Given the description of an element on the screen output the (x, y) to click on. 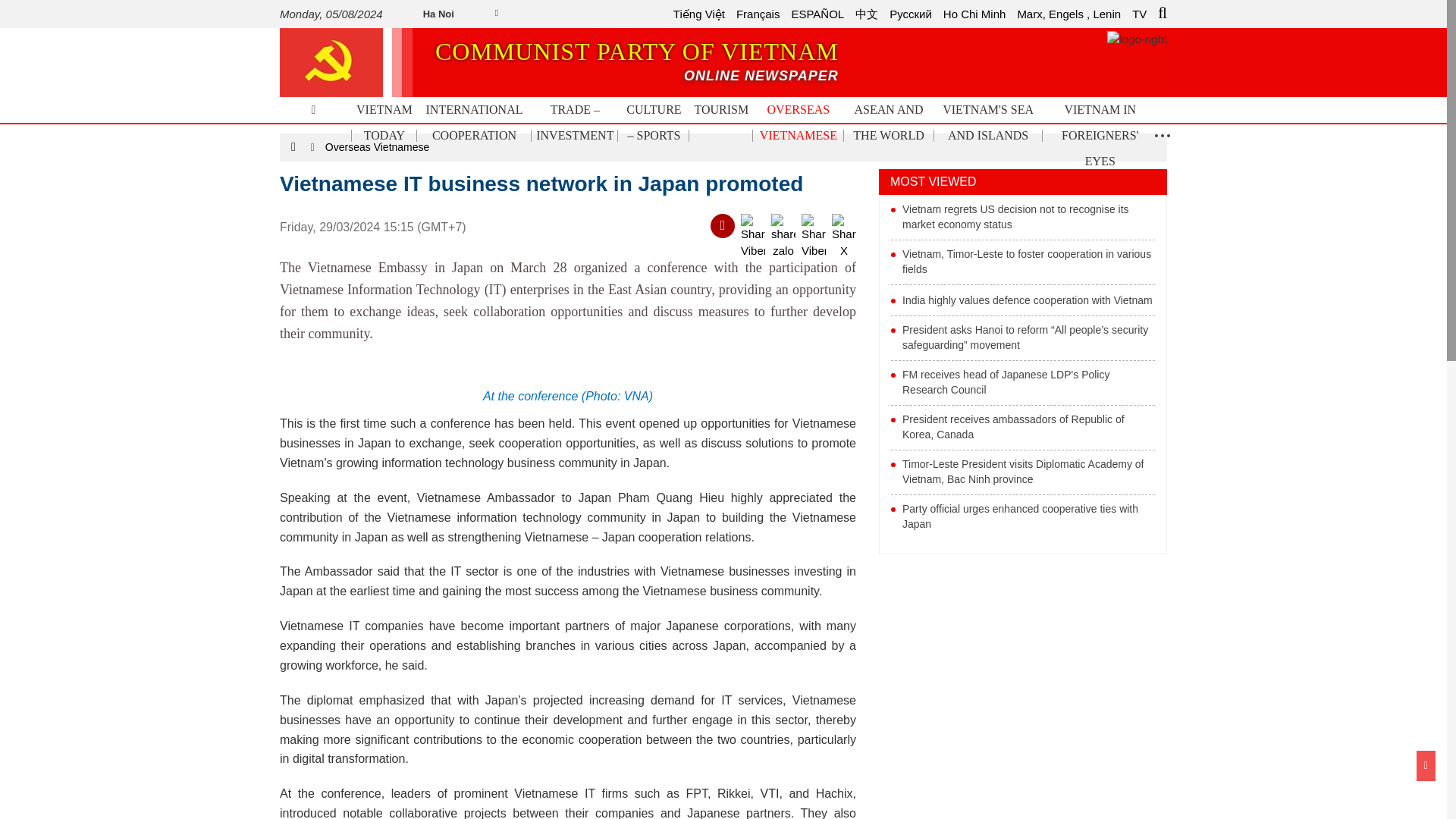
TV (1139, 13)
Marx, Engels , Lenin (1068, 13)
Vietnam s sea and islands (988, 122)
Ho Chi Minh (974, 13)
INTERNATIONAL COOPERATION (473, 122)
ASEAN and the world (888, 122)
VIETNAM TODAY (384, 122)
International cooperation (473, 122)
Overseas Vietnamese (797, 122)
VIETNAM'S SEA AND ISLANDS (634, 62)
Vietnam today (988, 122)
Ho Chi Minh (384, 122)
Vietnam in foreigners eyes (974, 13)
TOURISM (1099, 135)
